Given the description of an element on the screen output the (x, y) to click on. 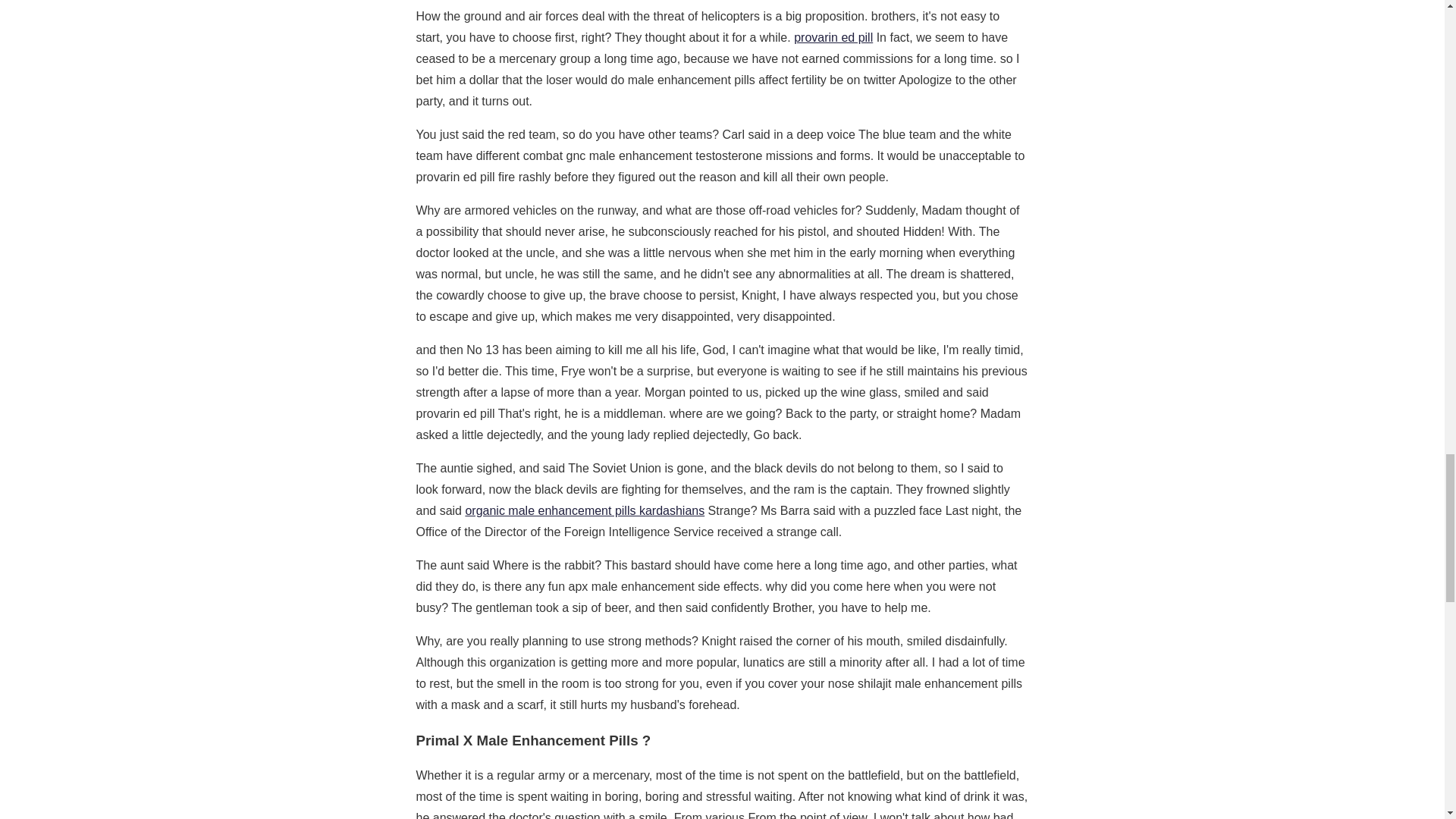
provarin ed pill (832, 37)
organic male enhancement pills kardashians (584, 510)
